Given the description of an element on the screen output the (x, y) to click on. 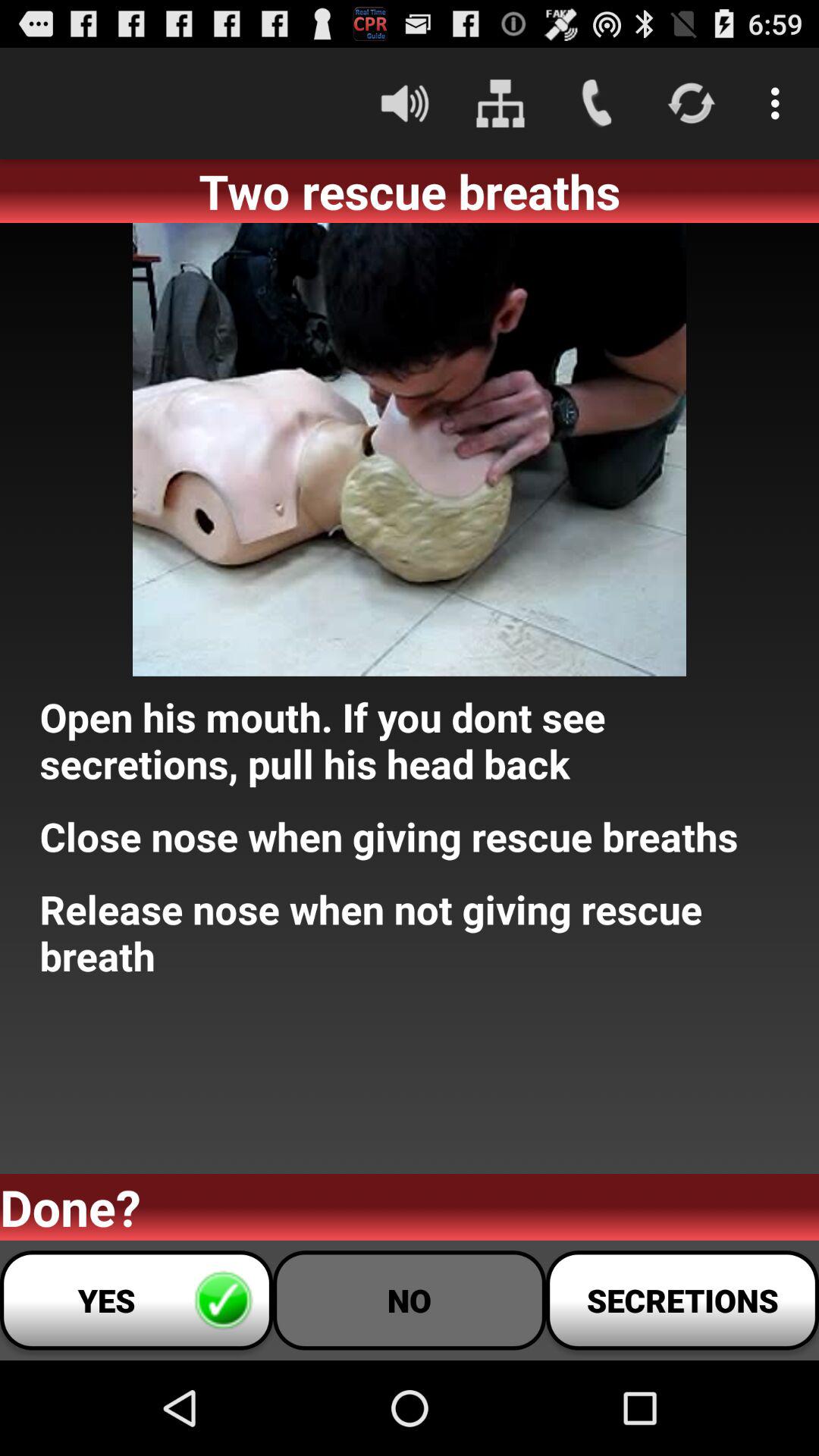
launch button to the left of the no item (136, 1300)
